Given the description of an element on the screen output the (x, y) to click on. 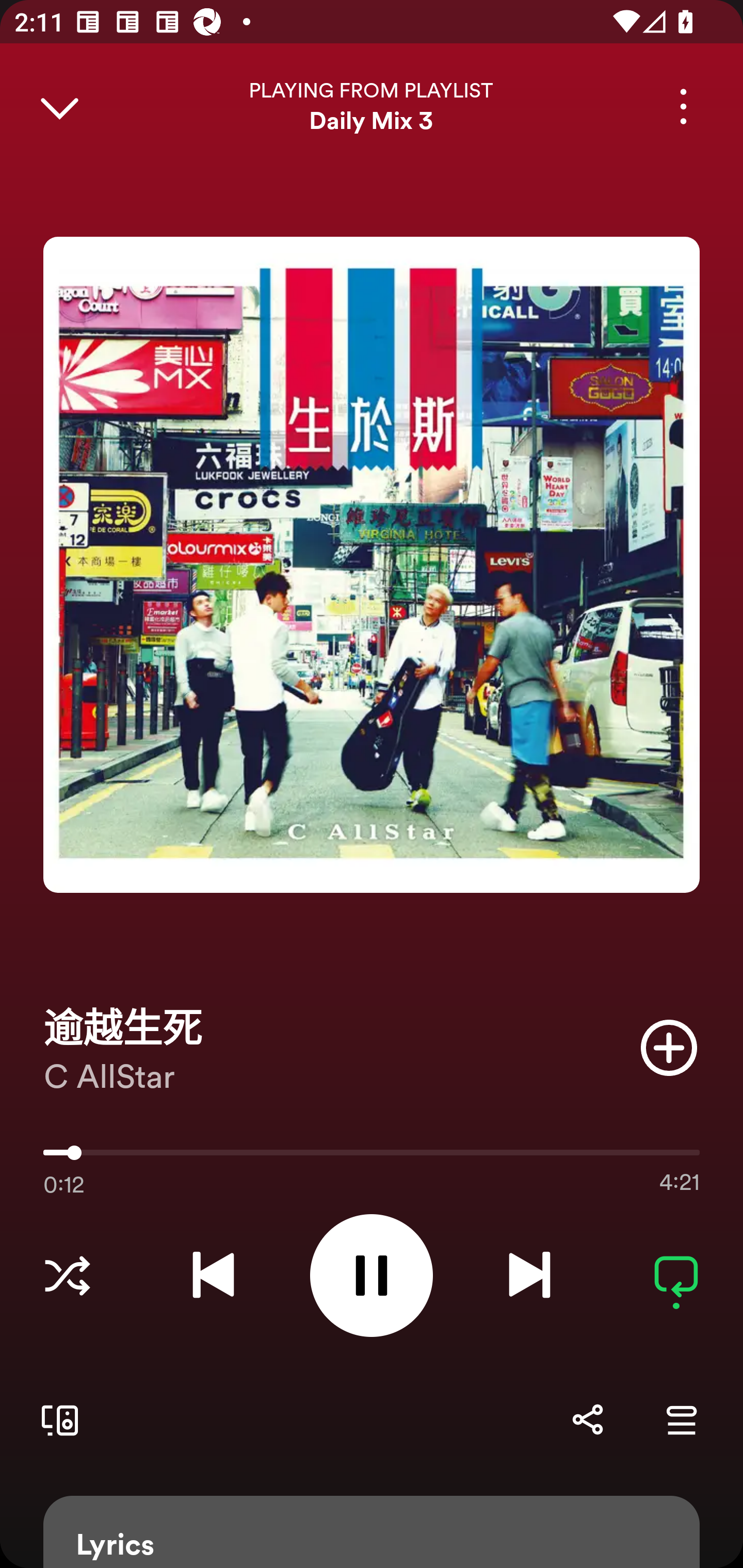
Close (59, 106)
More options for song 逾越生死 (683, 106)
PLAYING FROM PLAYLIST Daily Mix 3 (371, 106)
Add item (669, 1046)
0:12 4:21 12251.0 Use volume keys to adjust (371, 1157)
Pause (371, 1275)
Previous (212, 1275)
Next (529, 1275)
Choose a Listening Mode (66, 1275)
Repeat (676, 1275)
Share (587, 1419)
Go to Queue (681, 1419)
Connect to a device. Opens the devices menu (55, 1419)
Lyrics (371, 1531)
